Given the description of an element on the screen output the (x, y) to click on. 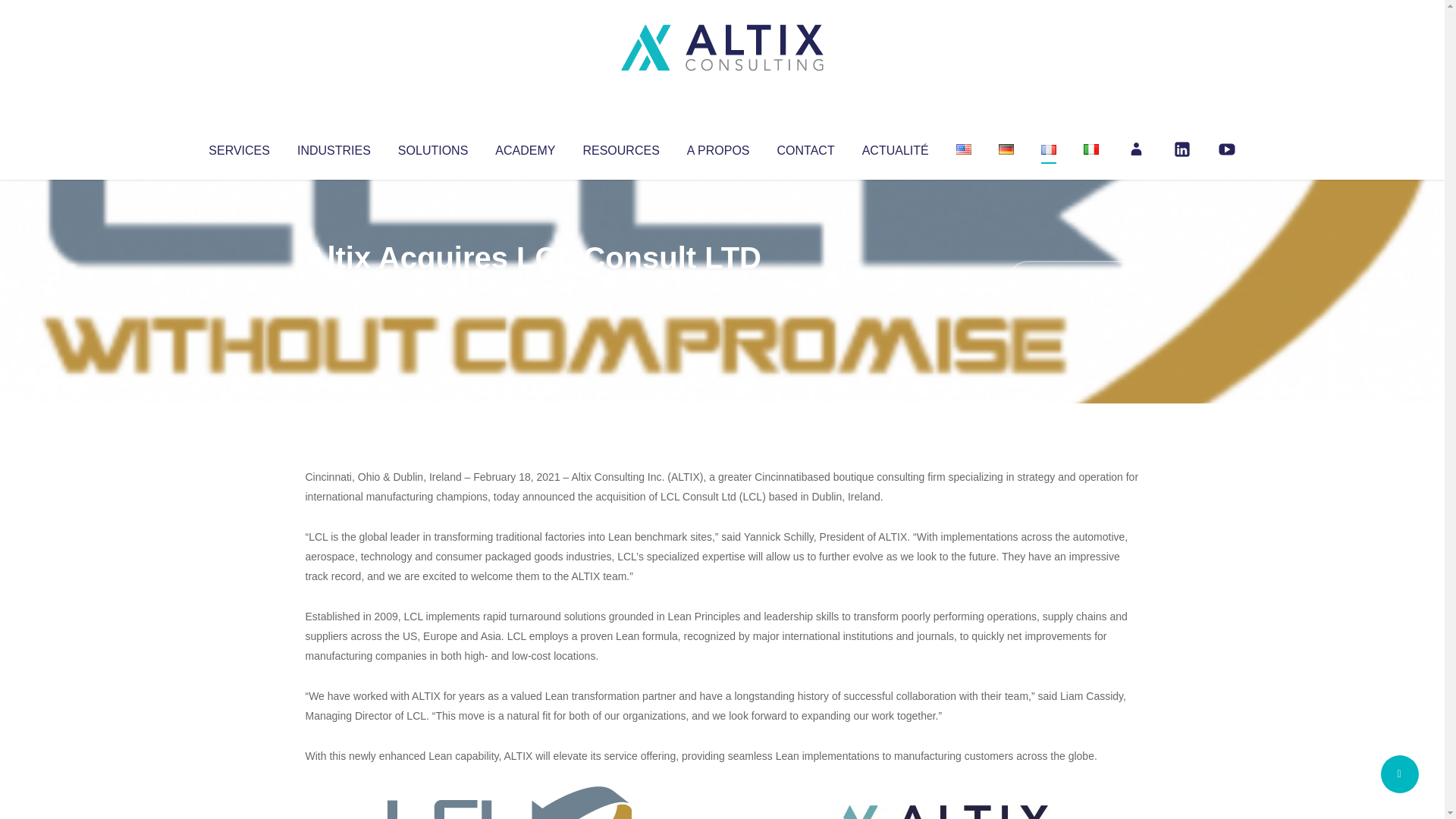
SOLUTIONS (432, 146)
Altix (333, 287)
A PROPOS (718, 146)
ACADEMY (524, 146)
RESOURCES (620, 146)
Uncategorized (530, 287)
SERVICES (238, 146)
No Comments (1073, 278)
INDUSTRIES (334, 146)
Articles par Altix (333, 287)
